Given the description of an element on the screen output the (x, y) to click on. 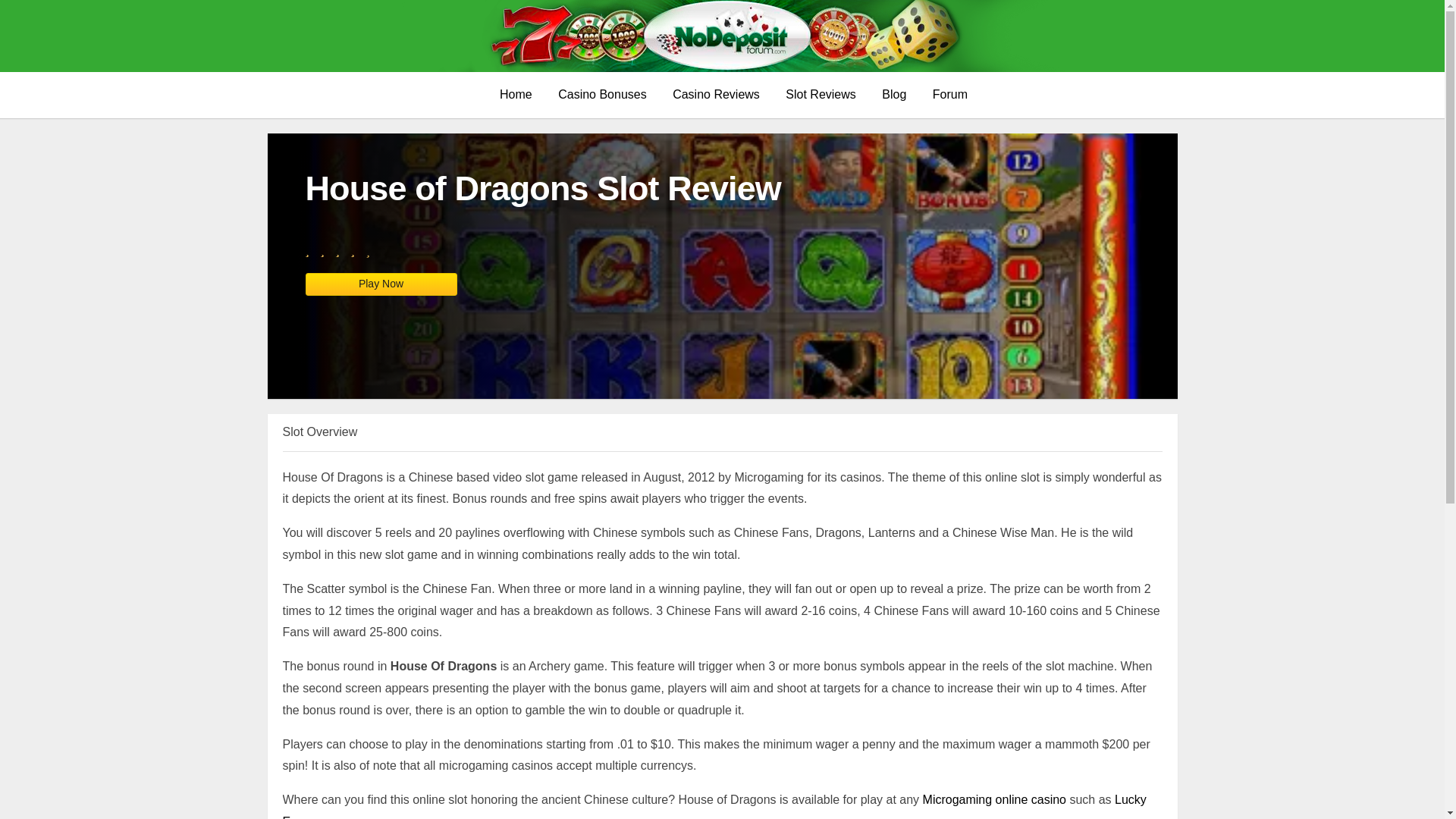
Home (515, 95)
Microgaming online casino (994, 799)
Casino Bonuses (601, 95)
Casino Reviews (716, 95)
Lucky Emperor (713, 806)
Play Now (380, 283)
Blog (893, 95)
Slot Reviews (821, 95)
Lucky Emperor (713, 806)
Forum (950, 95)
Microgaming online casino (994, 799)
